Given the description of an element on the screen output the (x, y) to click on. 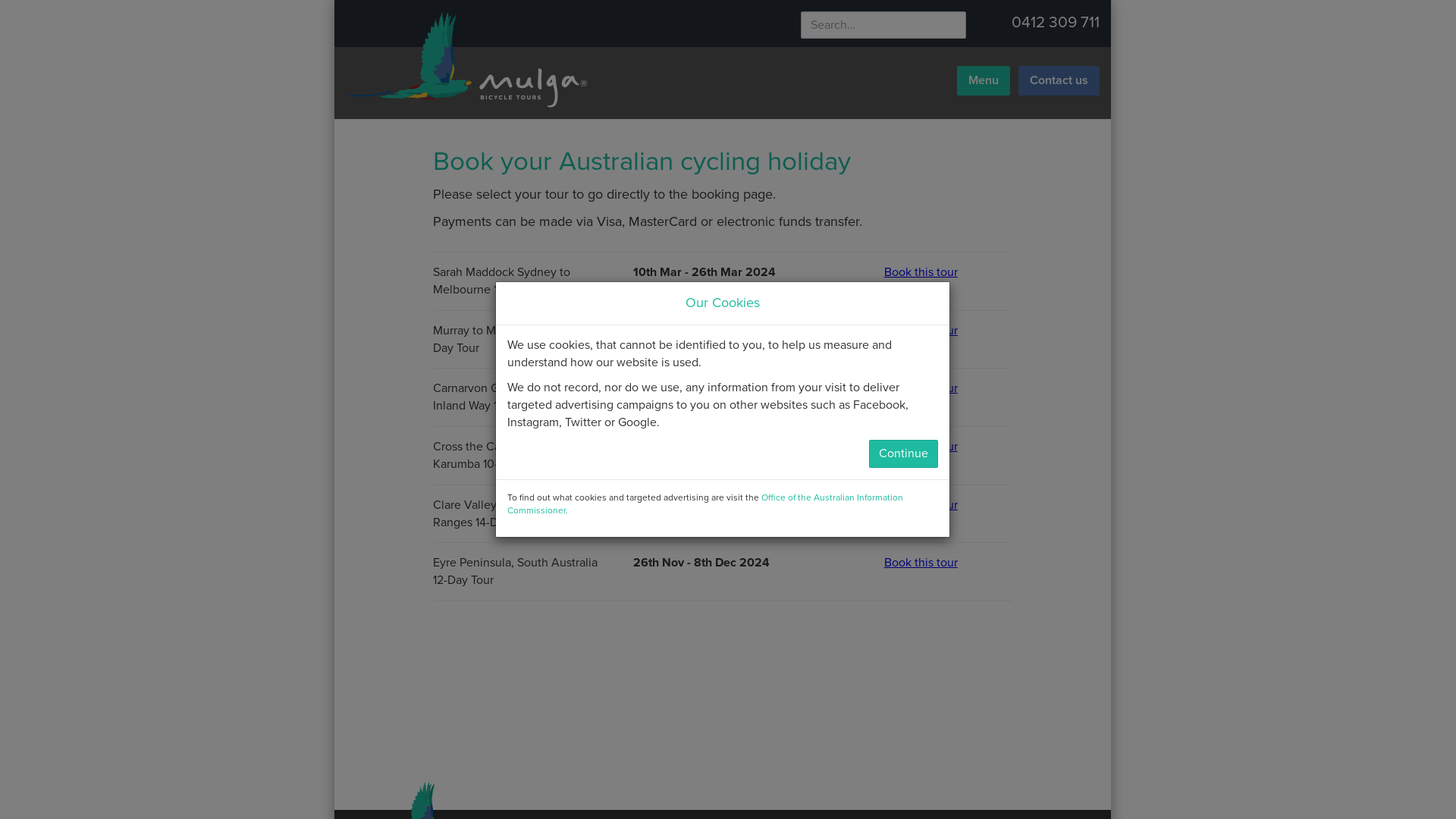
Continue Element type: text (903, 453)
0412 309 711 Element type: text (1055, 21)
Book this tour Element type: text (947, 272)
Book this tour Element type: text (947, 505)
Search Element type: text (973, 27)
Mulga Bicycle Tours Element type: text (464, 59)
Book this tour Element type: text (947, 446)
Office of the Australian Information Commissioner. Element type: text (704, 503)
Contact us Element type: text (1057, 80)
Book this tour Element type: text (947, 330)
Menu Element type: text (983, 80)
Instagram - Mulga Bicycle Tours (@mulgabicycletours) Element type: hover (1007, 22)
Book this tour Element type: text (947, 388)
Book this tour Element type: text (947, 562)
